Given the description of an element on the screen output the (x, y) to click on. 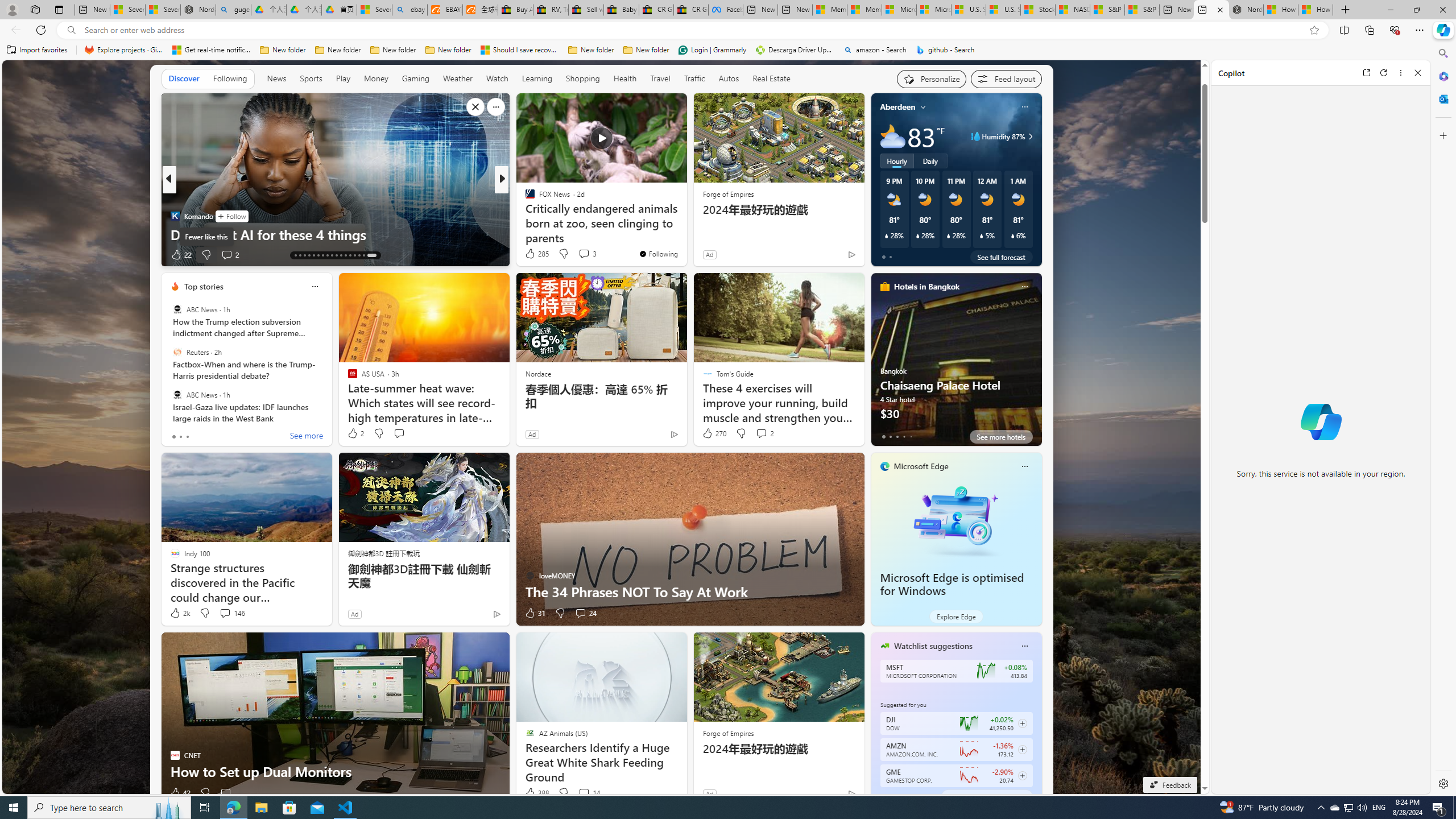
AutomationID: tab-24 (345, 255)
Sell worldwide with eBay (585, 9)
AutomationID: backgroundImagePicture (601, 426)
Microsoft Edge (921, 466)
Traffic (694, 79)
Autos (728, 79)
AutomationID: tab-18 (317, 255)
View comments 14 Comment (588, 792)
Don't trust AI for these 4 things (335, 234)
